Given the description of an element on the screen output the (x, y) to click on. 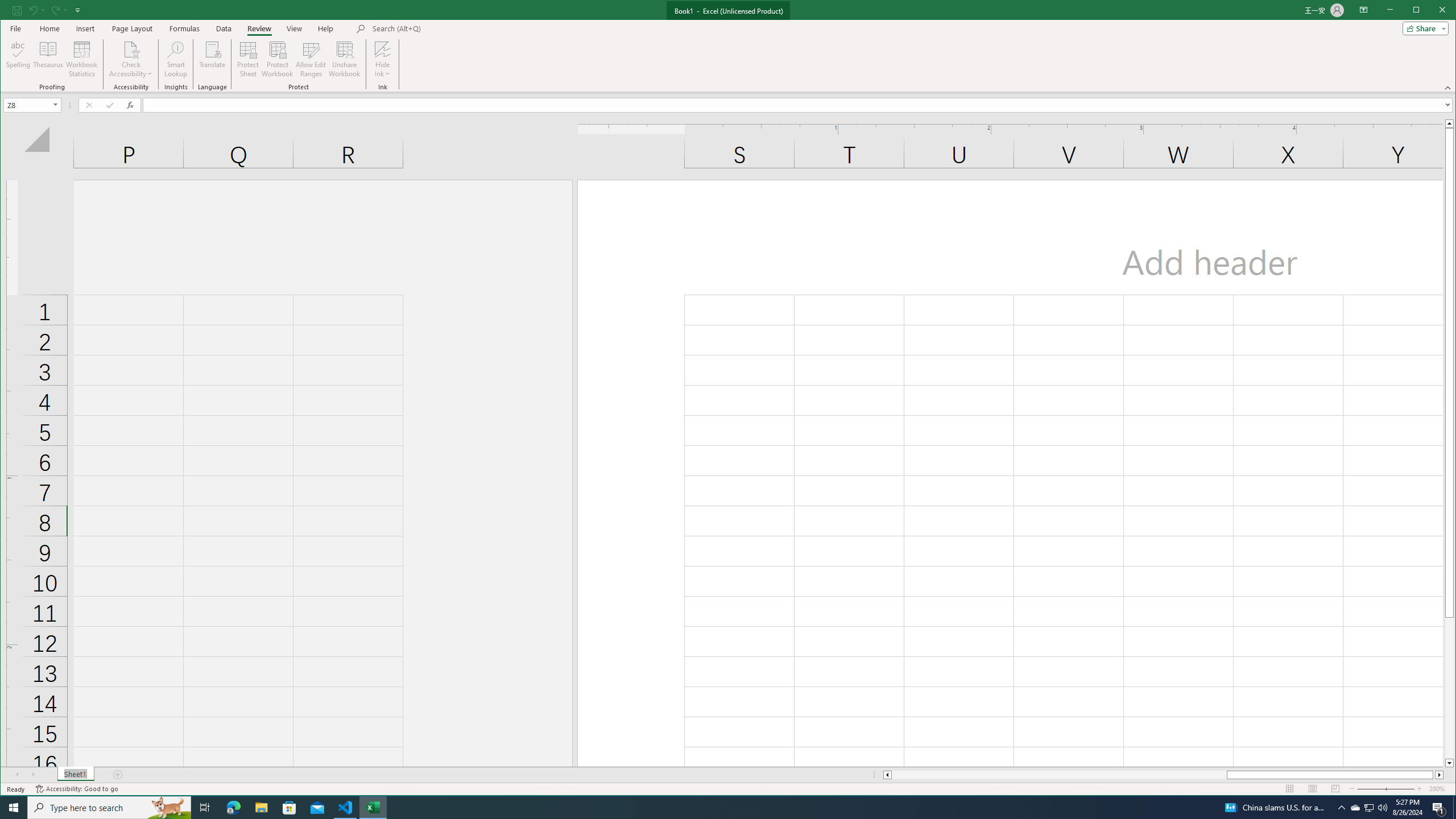
Sheet Tab (75, 774)
Action Center, 1 new notification (1439, 807)
